Given the description of an element on the screen output the (x, y) to click on. 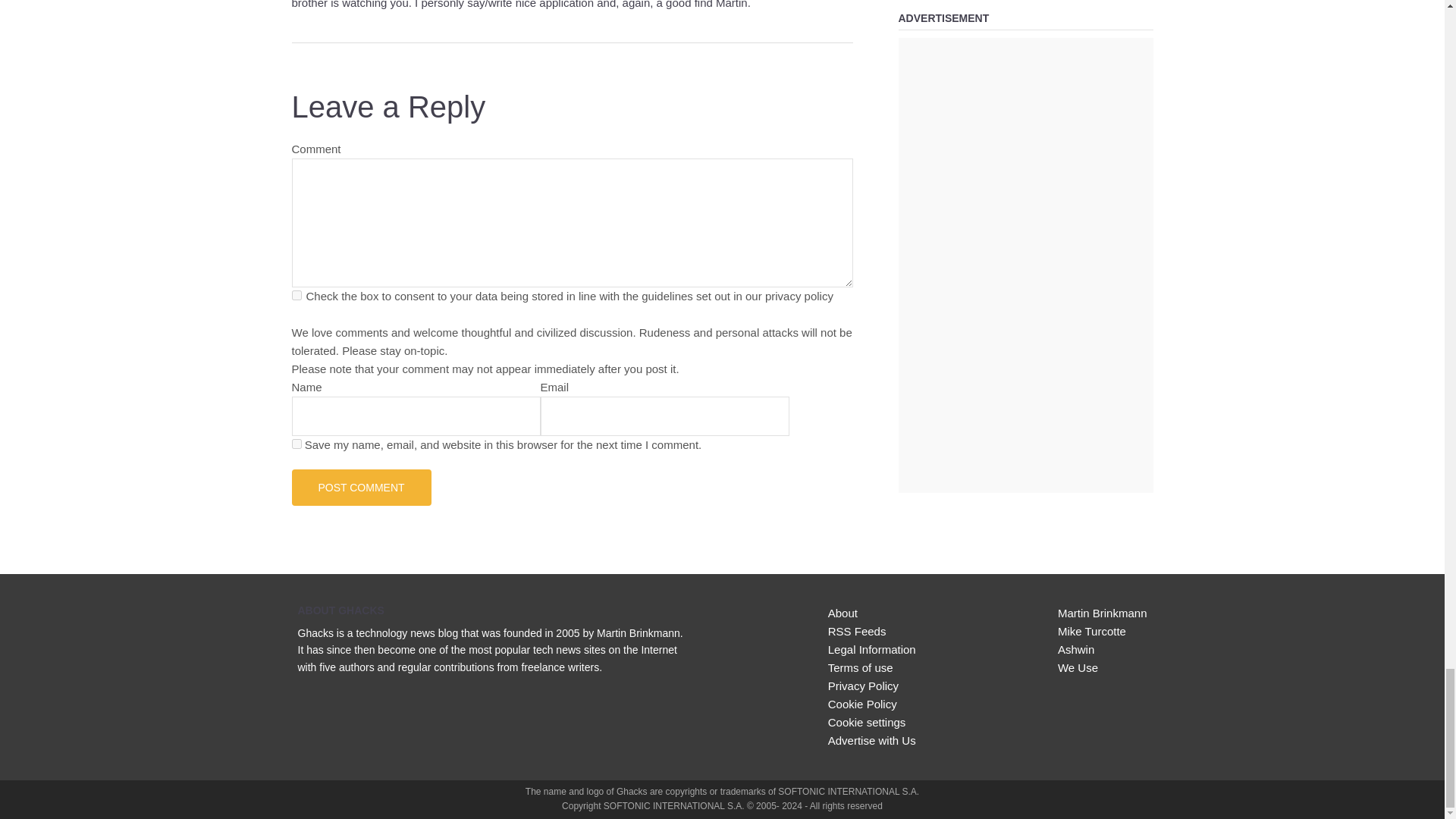
privacy-key (296, 295)
yes (296, 443)
Post Comment (360, 487)
